Given the description of an element on the screen output the (x, y) to click on. 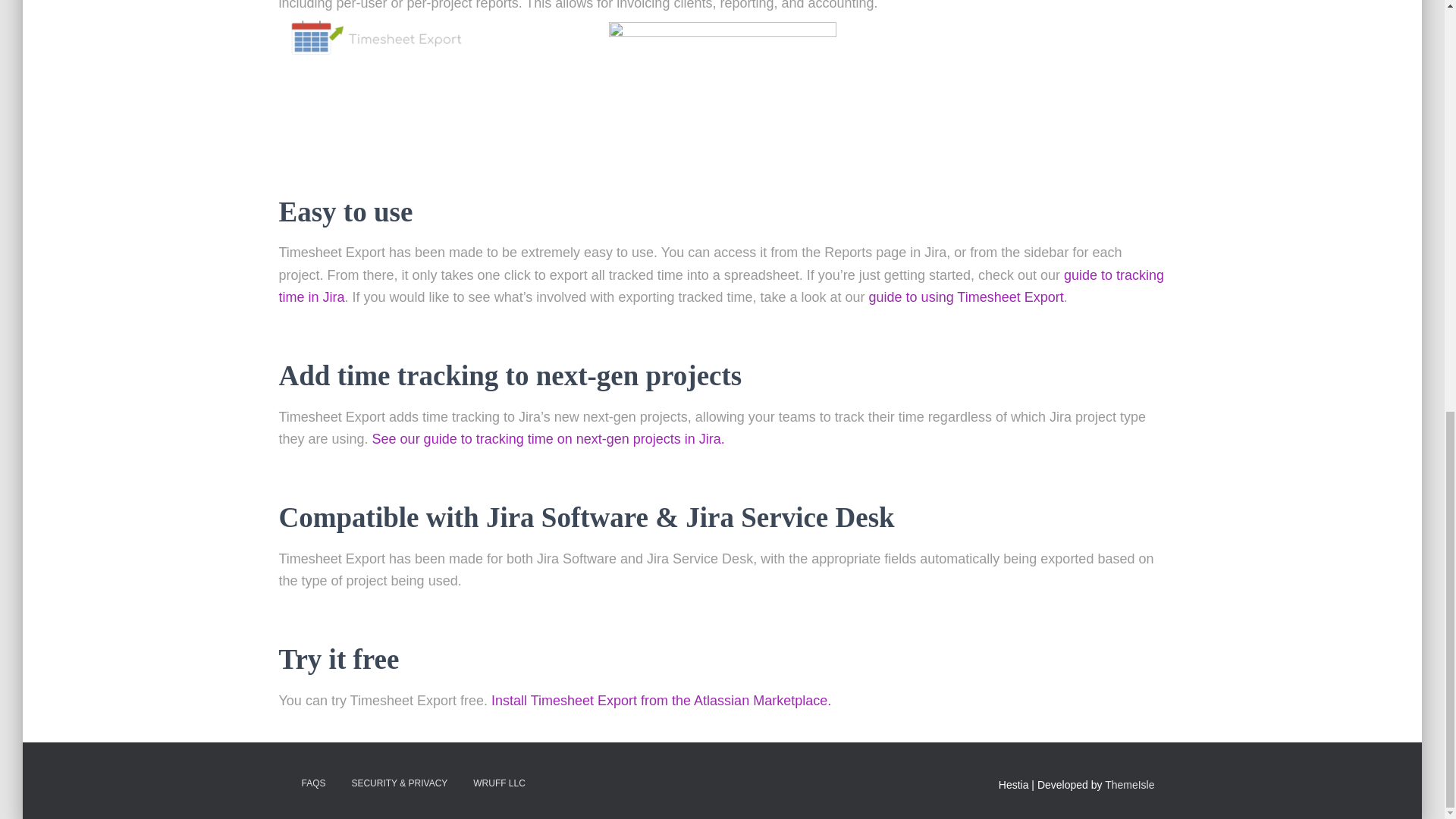
WRUFF LLC (499, 783)
guide to tracking time in Jira (721, 285)
See our guide to tracking time on next-gen projects in Jira. (548, 438)
ThemeIsle (1129, 784)
FAQS (312, 783)
guide to using Timesheet Export (966, 296)
Install Timesheet Export from the Atlassian Marketplace. (661, 700)
